Given the description of an element on the screen output the (x, y) to click on. 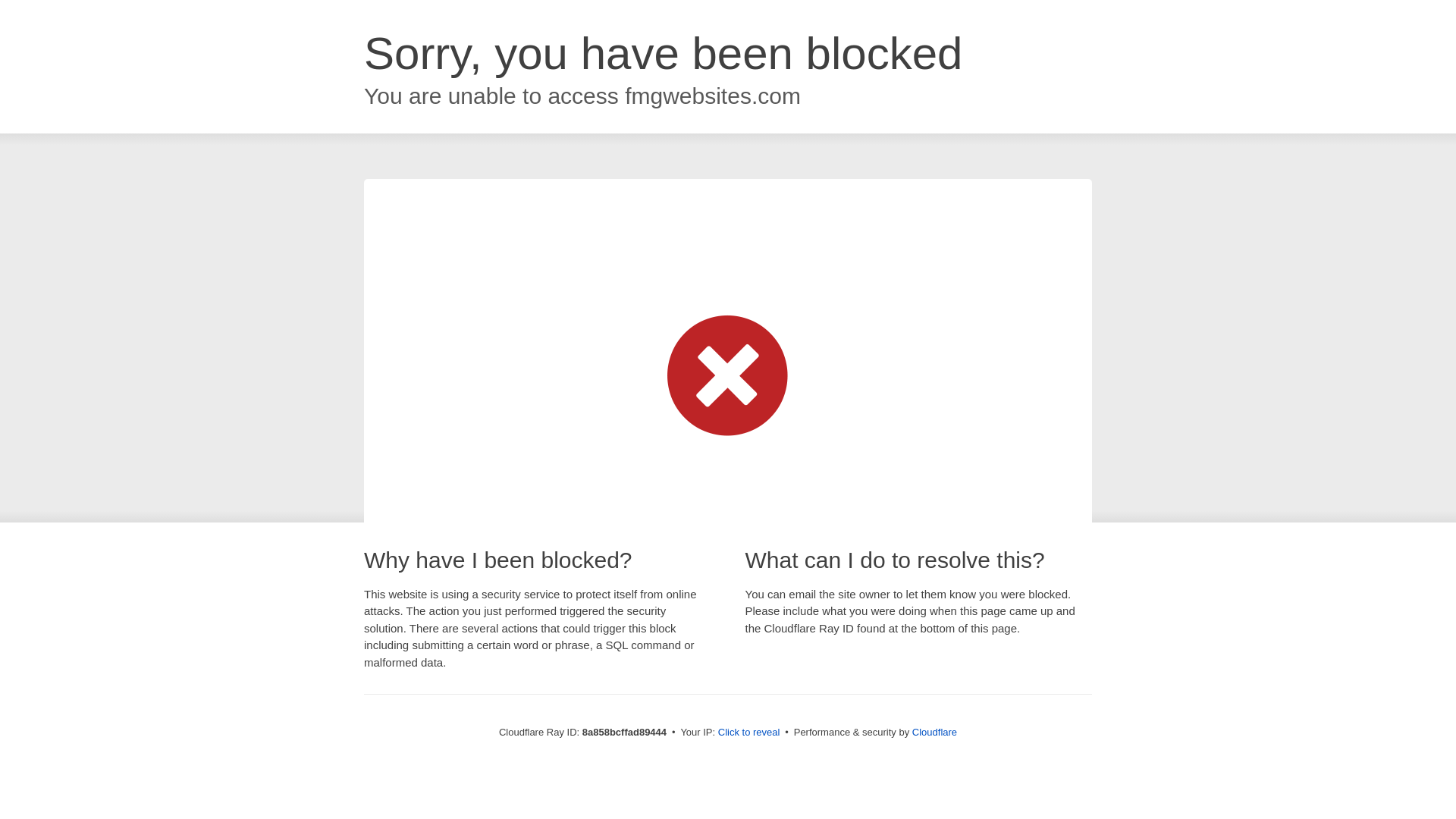
Click to reveal (748, 732)
Cloudflare (934, 731)
